Given the description of an element on the screen output the (x, y) to click on. 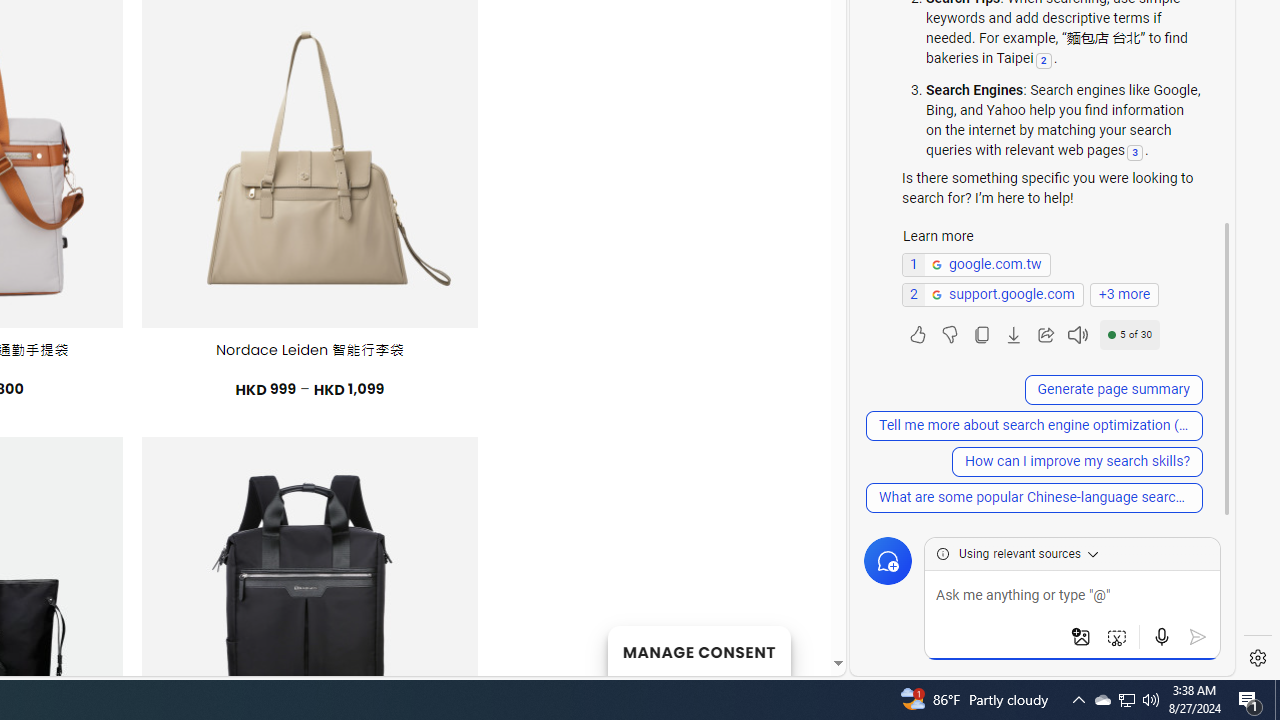
MANAGE CONSENT (698, 650)
